Given the description of an element on the screen output the (x, y) to click on. 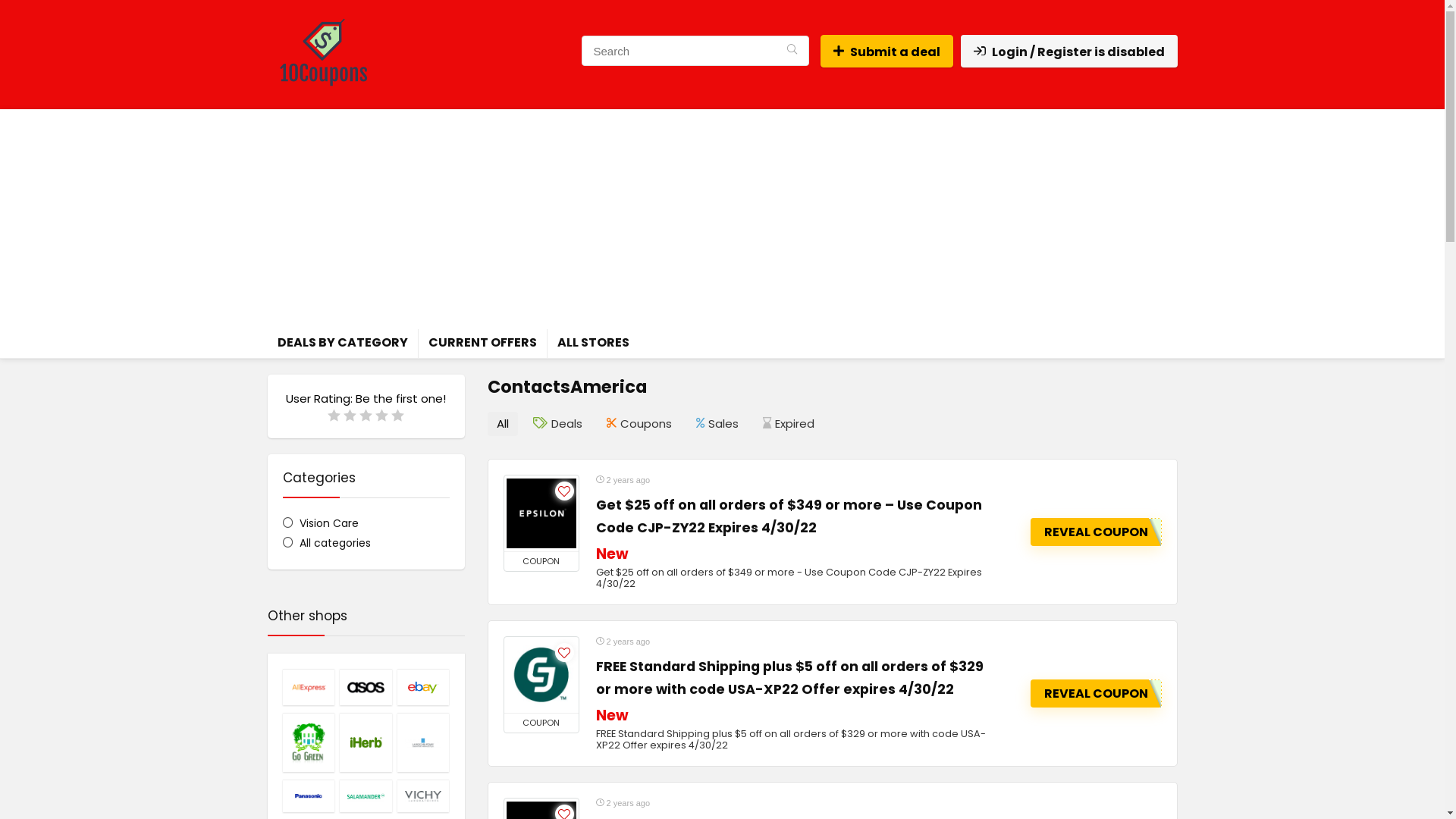
Login / Register is disabled Element type: text (1068, 50)
Vision Care Element type: text (320, 522)
CURRENT OFFERS Element type: text (482, 343)
Submit a deal Element type: text (886, 50)
ALL STORES Element type: text (593, 343)
View all post filed under Gogreen Element type: hover (308, 741)
Advertisement Element type: hover (721, 215)
View all post filed under Ebay Element type: hover (423, 686)
View all post filed under ASOS Element type: hover (365, 686)
View all post filed under Laroche Element type: hover (423, 741)
View all post filed under Iherb.com Element type: hover (365, 741)
View all post filed under Salamander Element type: hover (365, 795)
View all post filed under Panasonic Element type: hover (308, 795)
DEALS BY CATEGORY Element type: text (341, 343)
View all post filed under Vichy Element type: hover (423, 795)
View all post filed under Aliexpress Element type: hover (308, 686)
All categories Element type: text (326, 542)
